Given the description of an element on the screen output the (x, y) to click on. 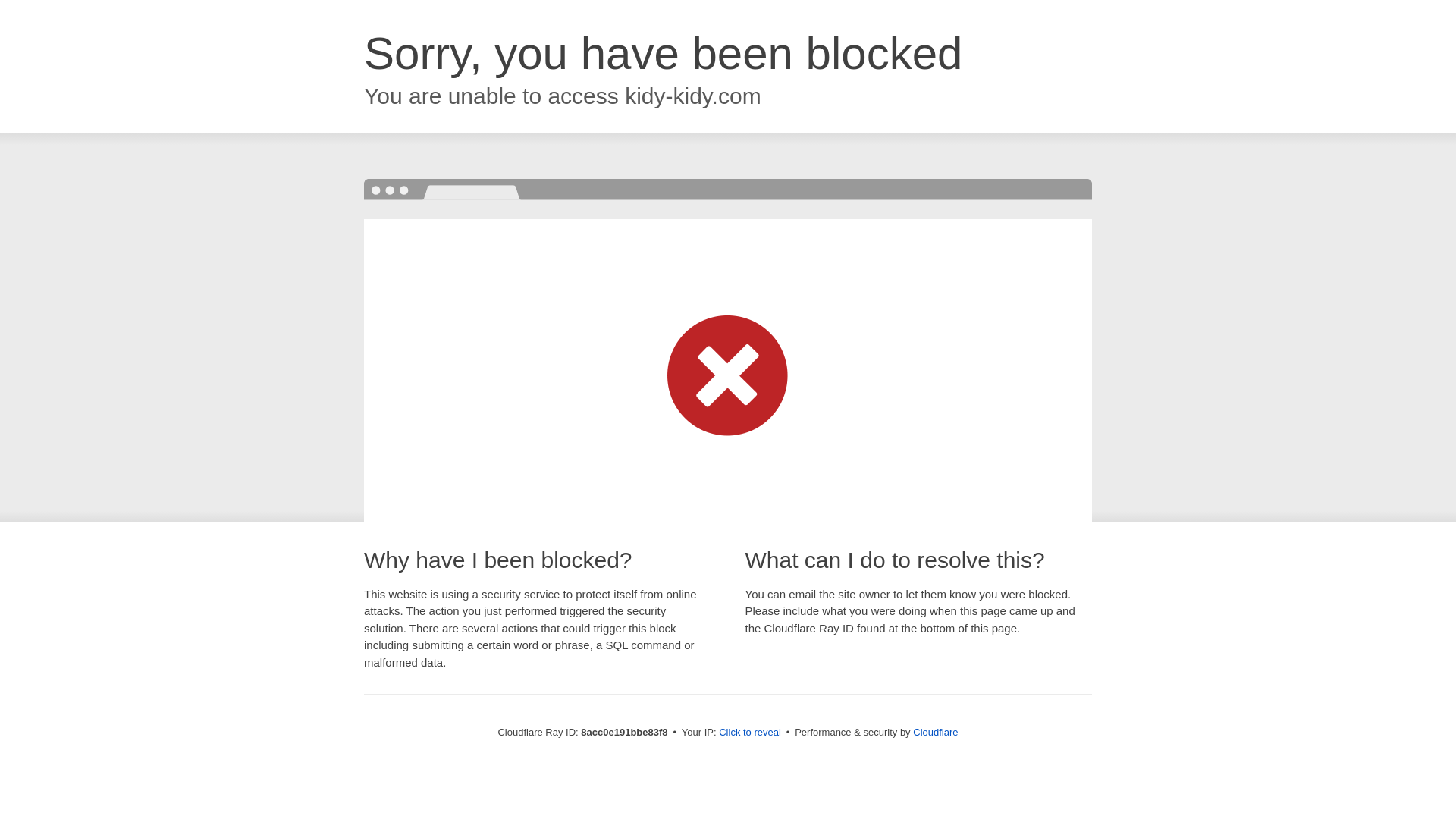
Click to reveal (749, 732)
Cloudflare (935, 731)
